Given the description of an element on the screen output the (x, y) to click on. 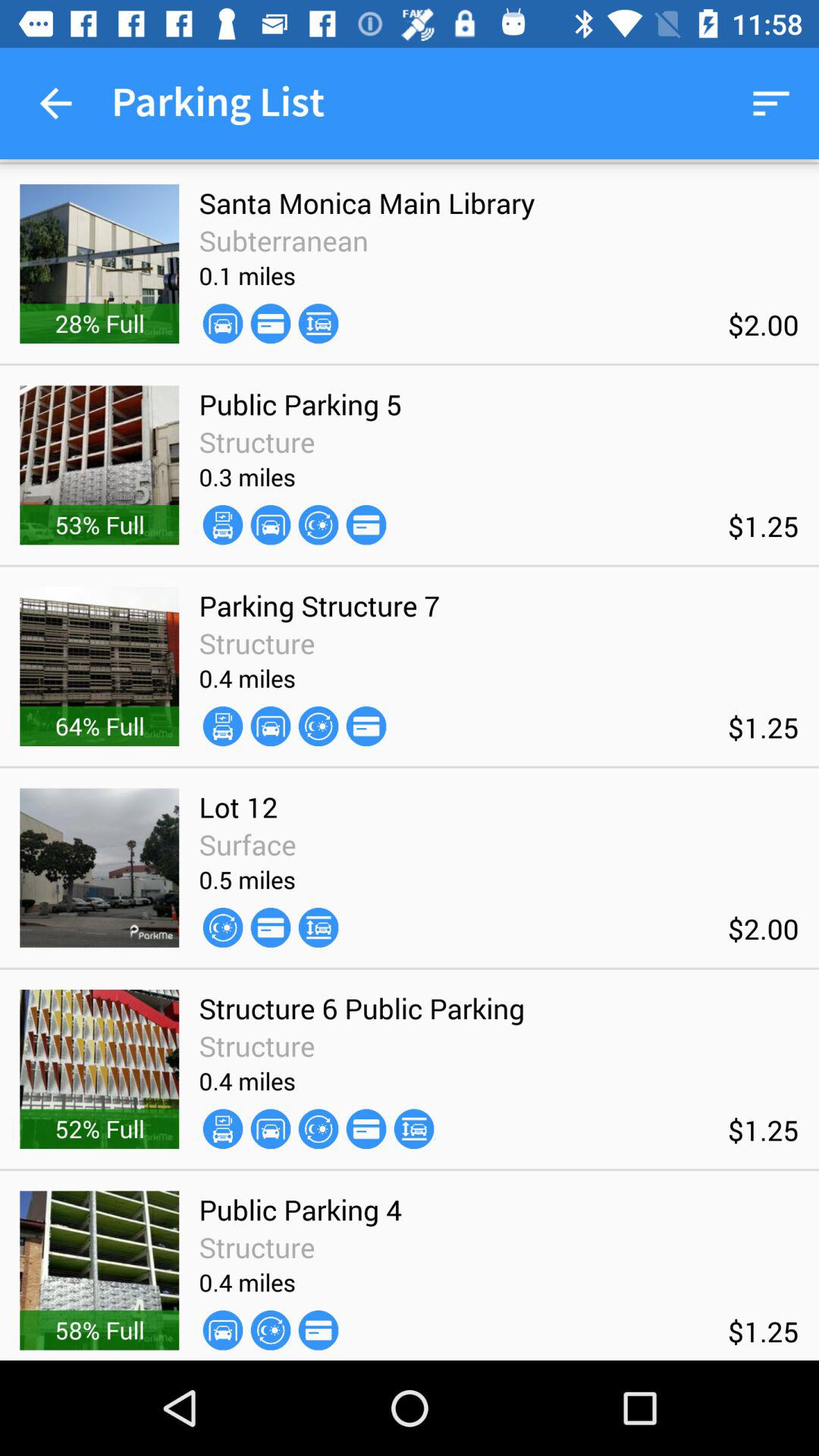
select icon above structure 6 public (318, 927)
